Given the description of an element on the screen output the (x, y) to click on. 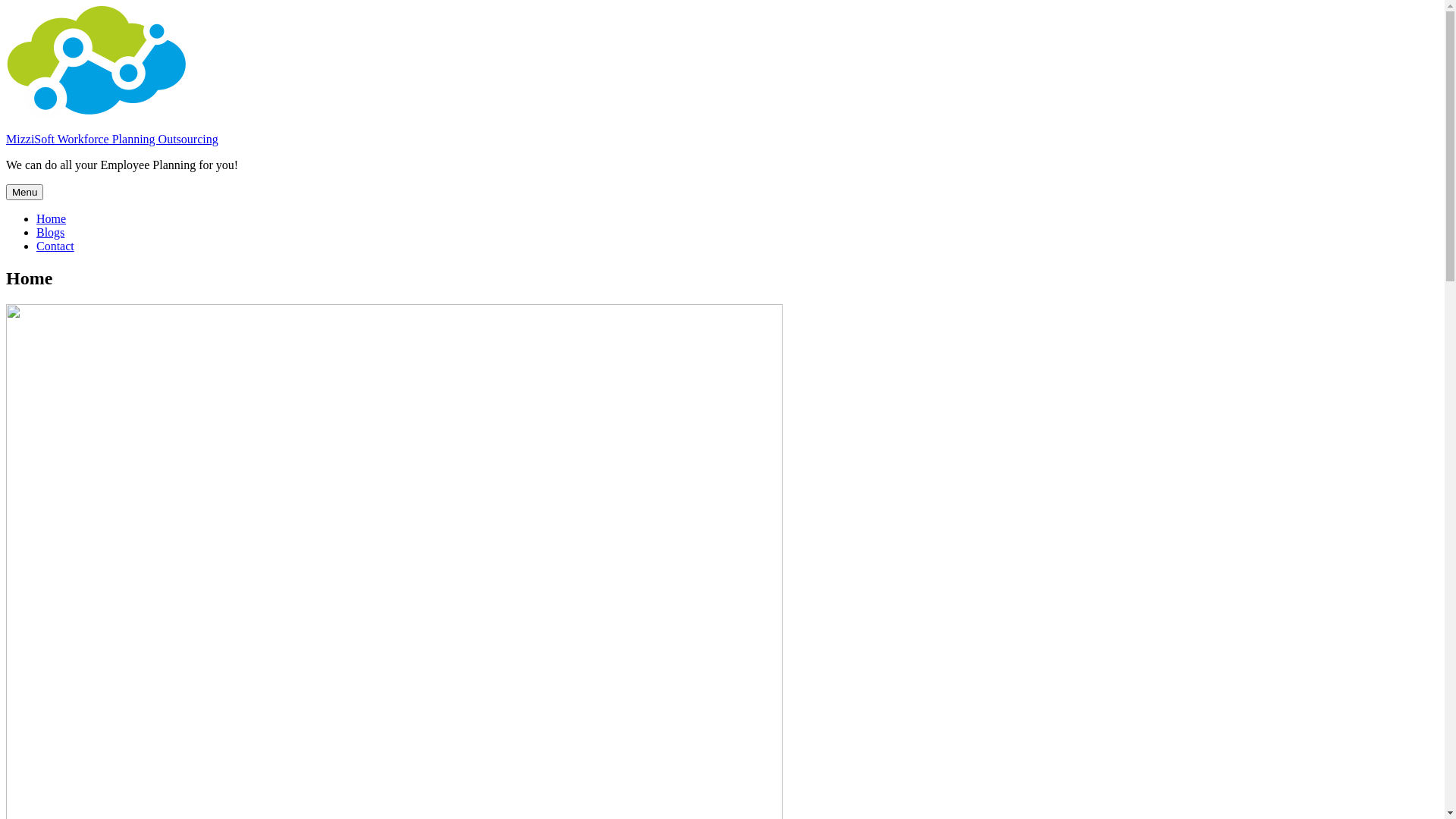
Home Element type: text (50, 218)
Menu Element type: text (24, 192)
Blogs Element type: text (50, 231)
Skip to content Element type: text (5, 5)
Contact Element type: text (55, 245)
MizziSoft Workforce Planning Outsourcing Element type: text (112, 138)
